Given the description of an element on the screen output the (x, y) to click on. 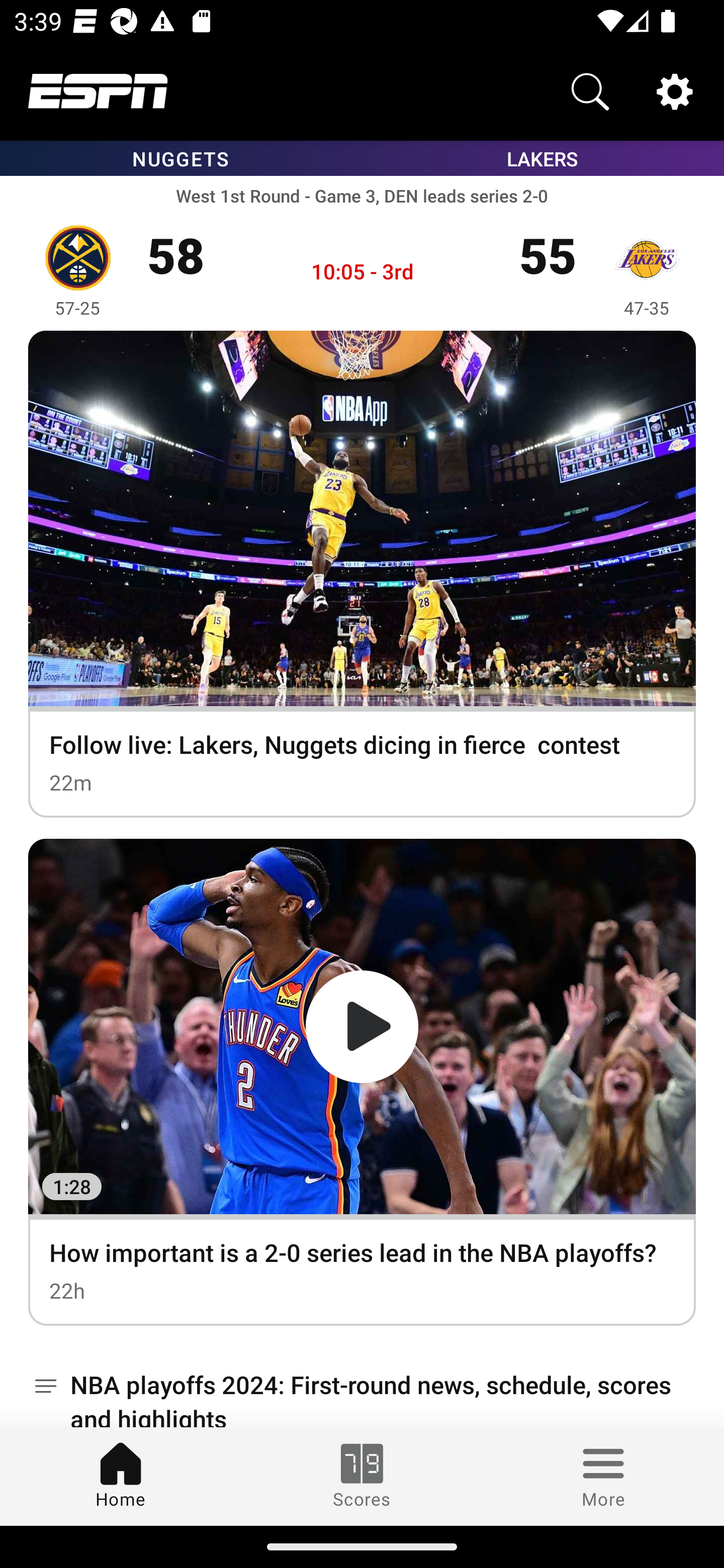
Search (590, 90)
Settings (674, 90)
Scores (361, 1475)
More (603, 1475)
